Given the description of an element on the screen output the (x, y) to click on. 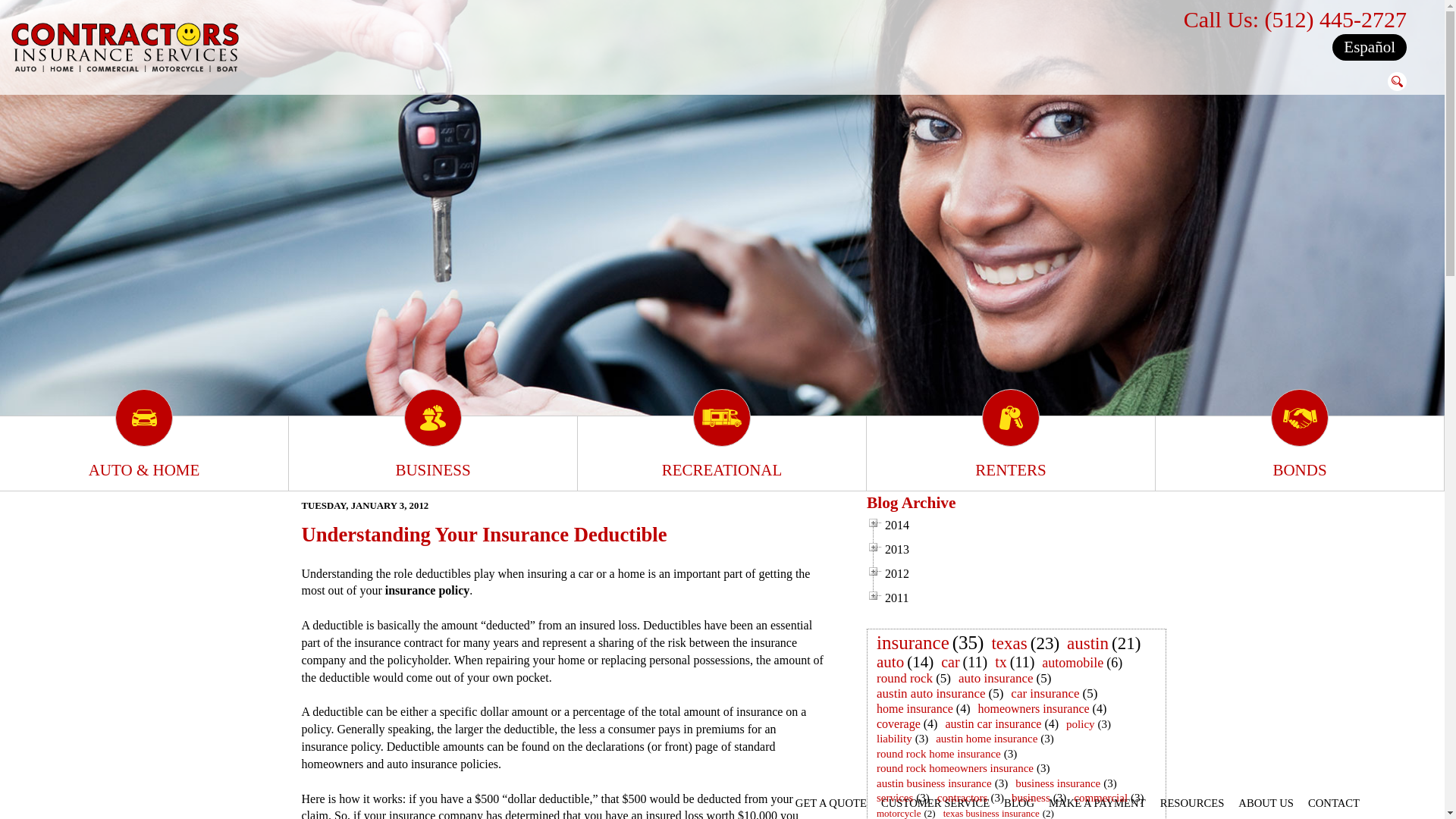
homeowners insurance (1034, 708)
car insurance (1044, 692)
texas (1008, 643)
CUSTOMER SERVICE (935, 802)
ABOUT US (1265, 802)
insurance (912, 642)
tx (1000, 661)
MAKE A PAYMENT (1097, 802)
car (949, 661)
austin auto insurance (930, 692)
